Given the description of an element on the screen output the (x, y) to click on. 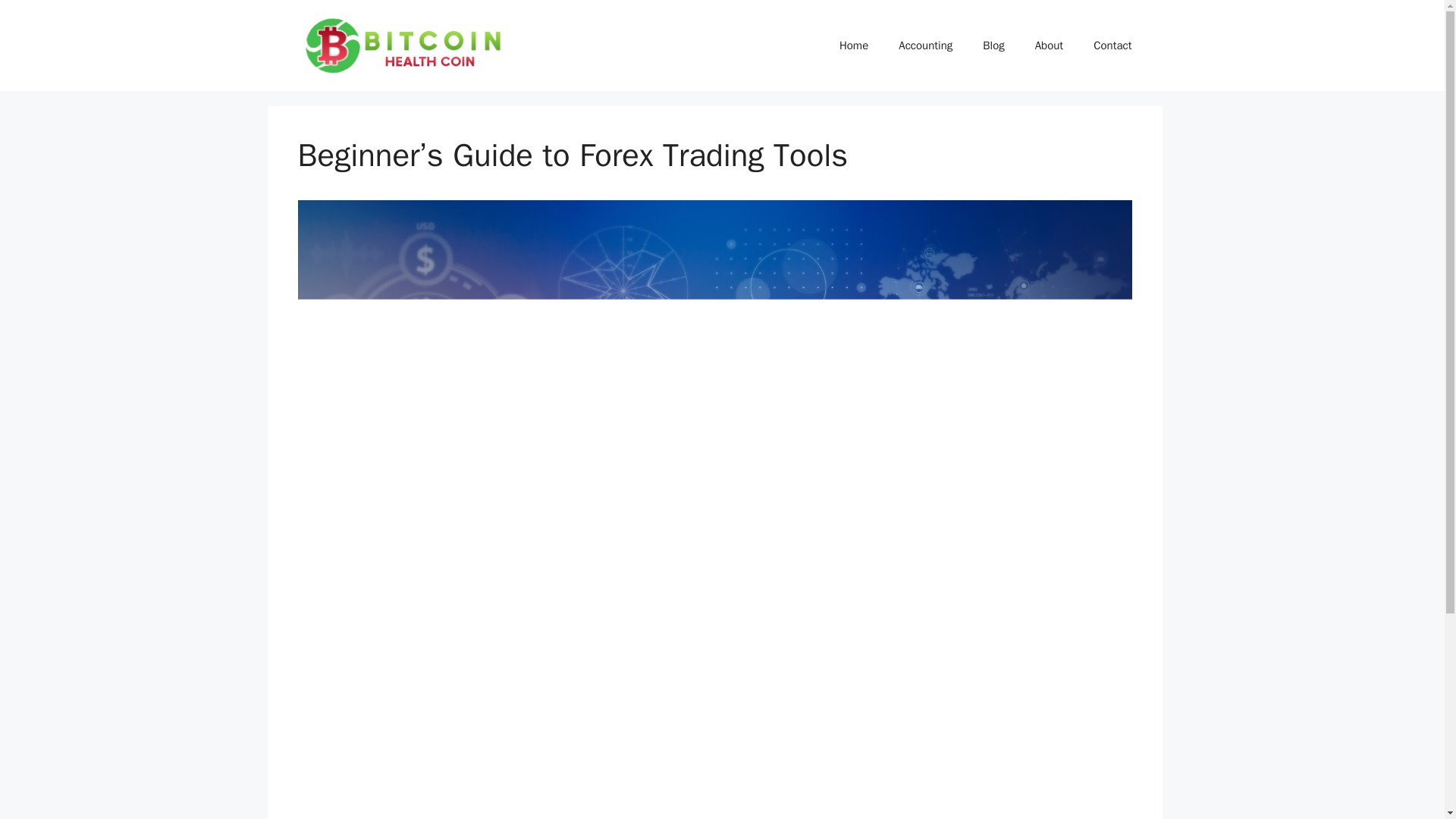
About (1049, 44)
Contact (1112, 44)
Home (853, 44)
Accounting (925, 44)
Blog (993, 44)
